Given the description of an element on the screen output the (x, y) to click on. 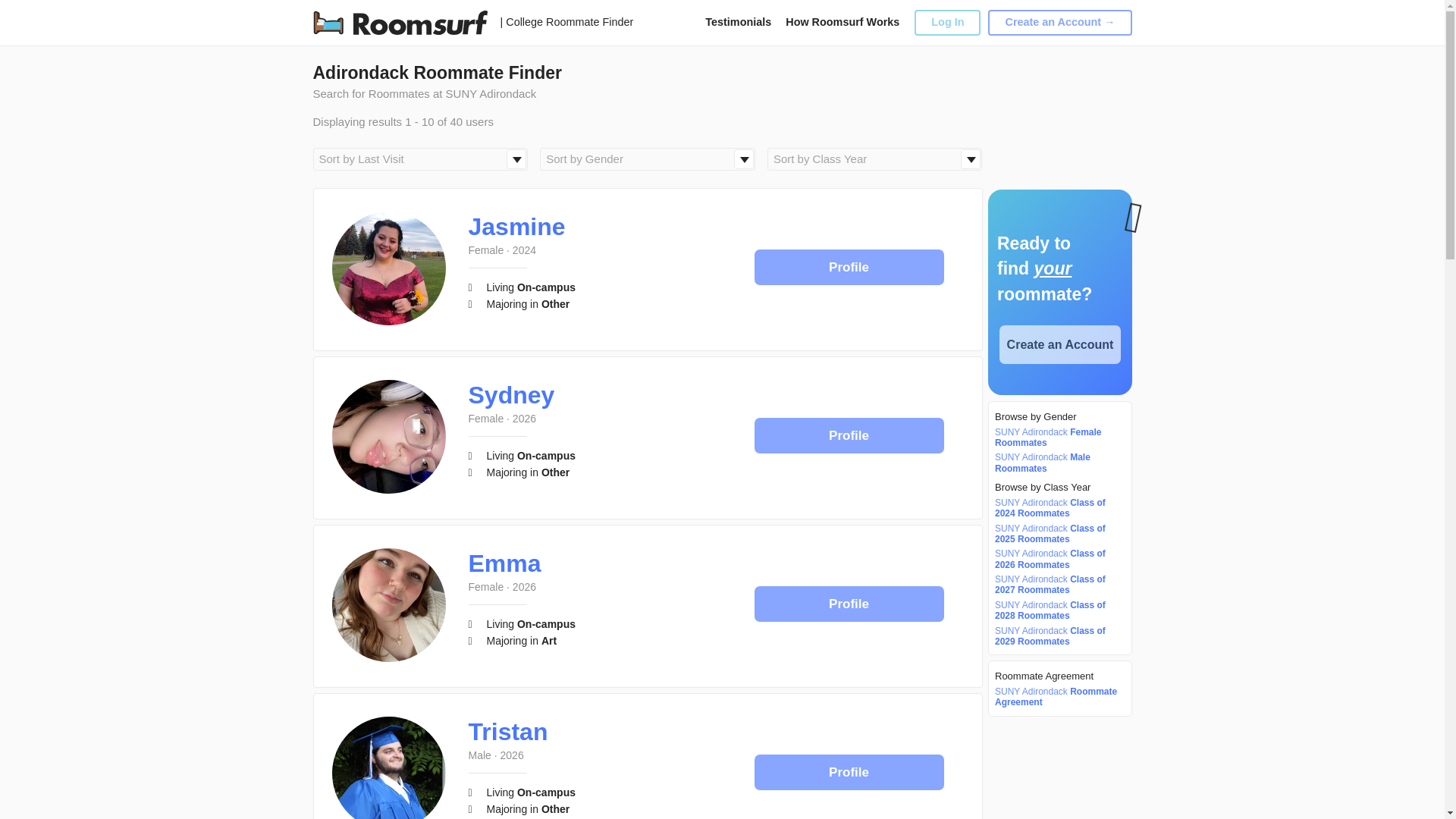
Profile (848, 267)
Jasmine (517, 226)
Profile (848, 266)
Profile (848, 435)
2024 (523, 250)
Testimonials (737, 21)
Profile (848, 435)
Log In (946, 22)
How Roomsurf Works (842, 21)
2026 (523, 418)
Female (485, 418)
Sydney (511, 394)
Female (485, 250)
